Given the description of an element on the screen output the (x, y) to click on. 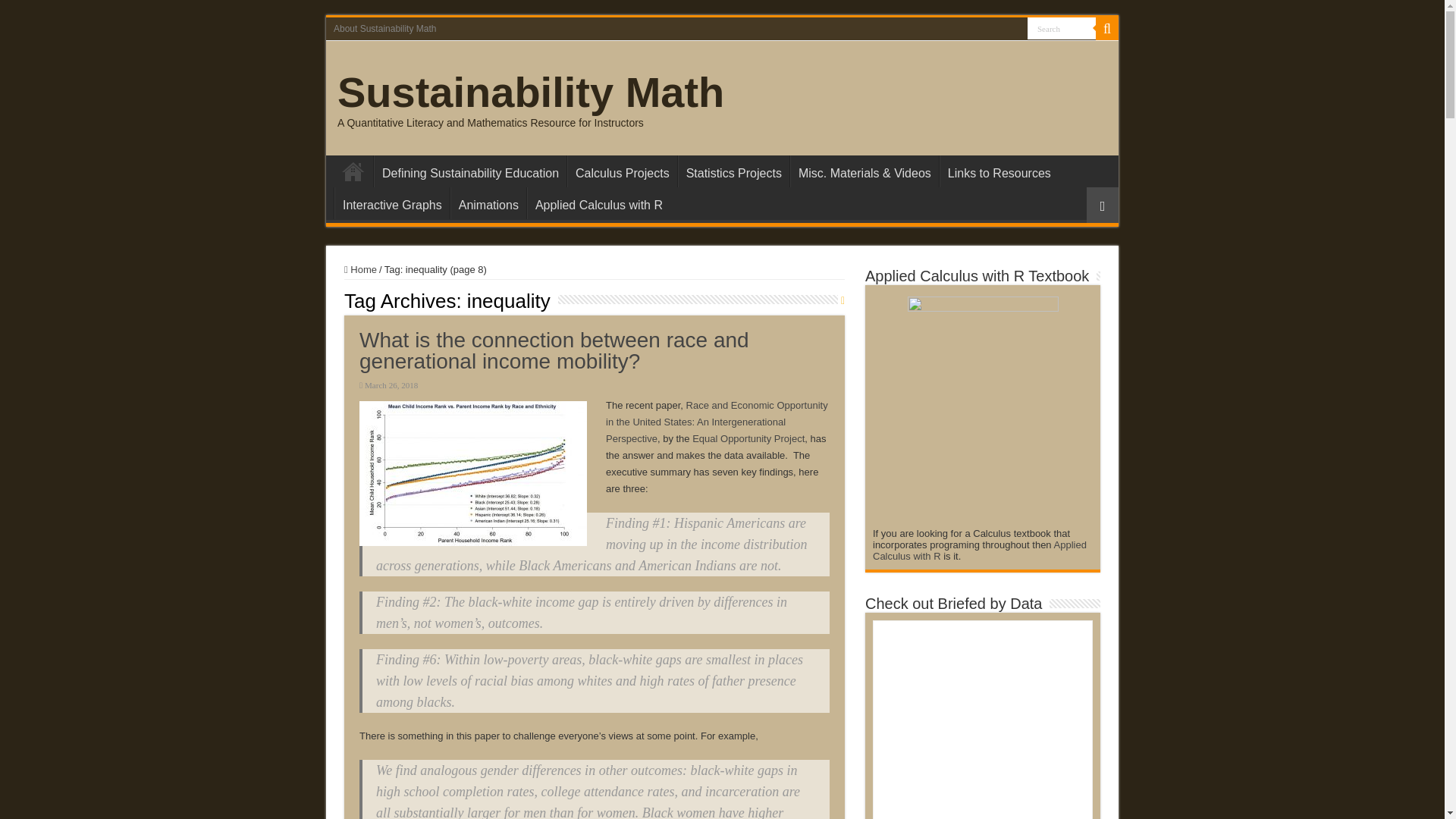
About Sustainability Math (385, 28)
Defining Sustainability Education (470, 171)
Search (1061, 28)
Home (352, 171)
Applied Calculus with R (598, 203)
Home (360, 269)
Sustainability Math (530, 91)
Calculus Projects (622, 171)
